Given the description of an element on the screen output the (x, y) to click on. 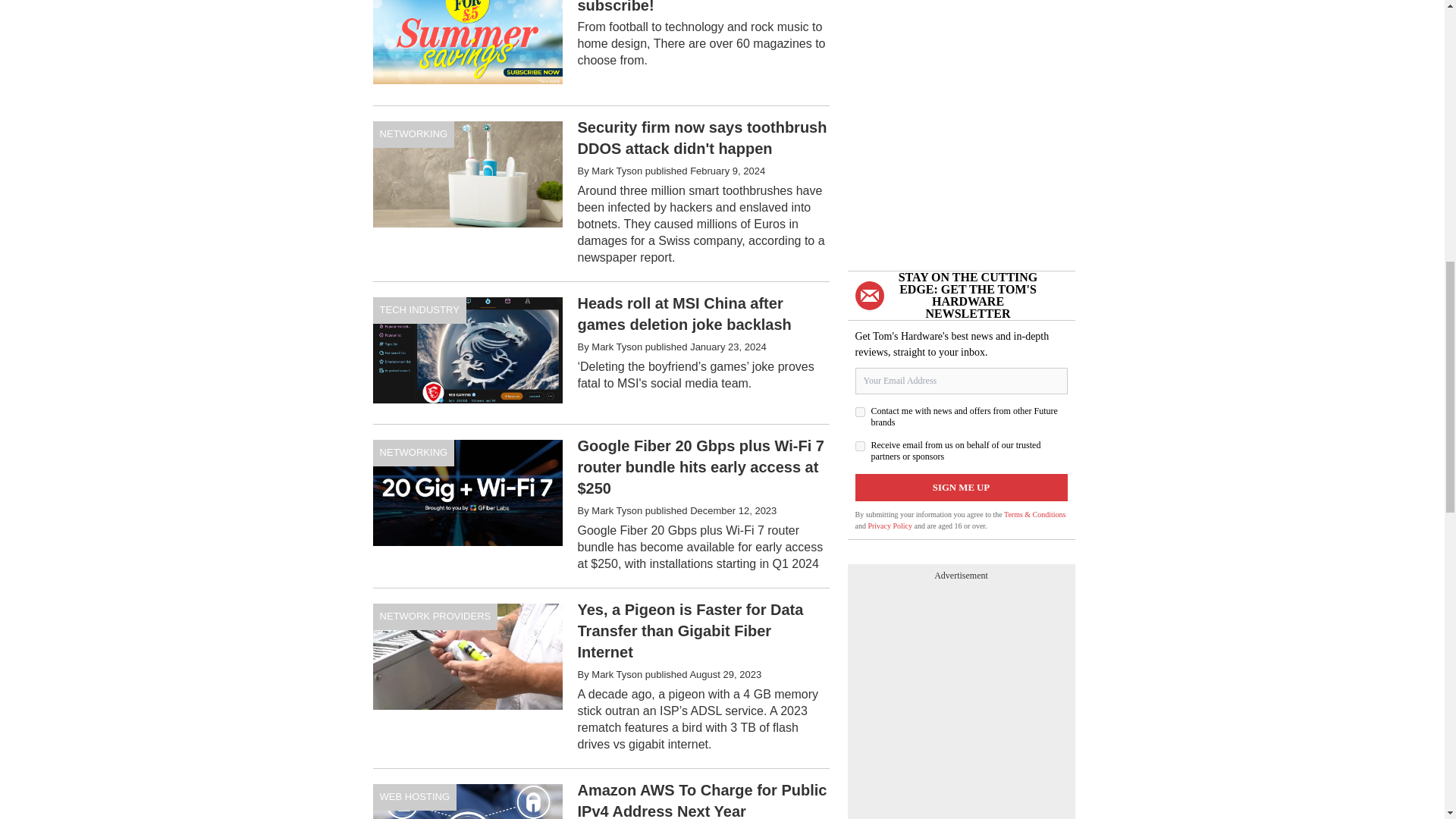
Sign me up (961, 487)
Advertisement (600, 52)
